Given the description of an element on the screen output the (x, y) to click on. 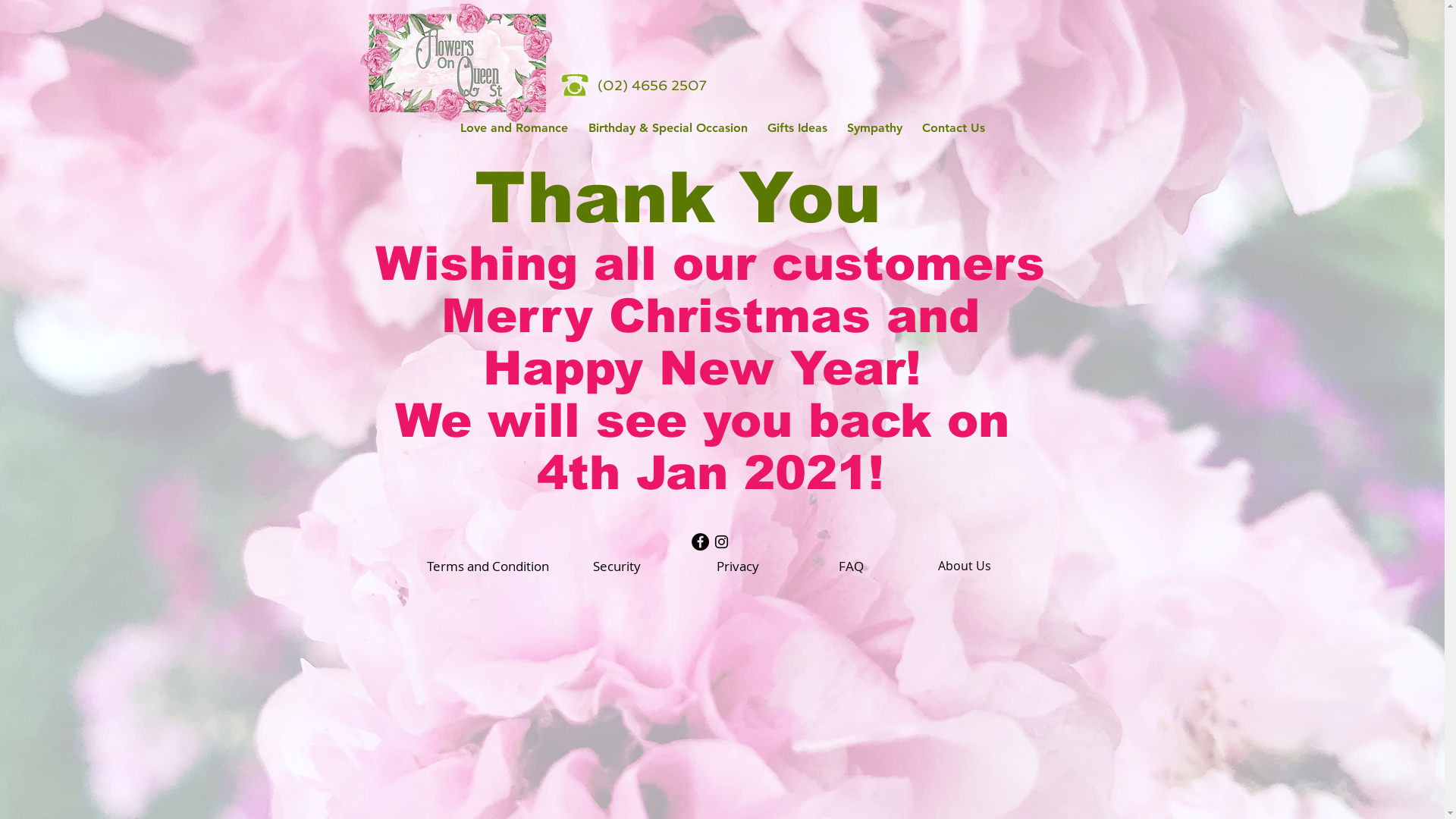
About Us Element type: text (963, 565)
Contact Us Element type: text (952, 127)
FAQ Element type: text (850, 565)
Online Store Element type: hover (1008, 40)
Privacy Element type: text (737, 565)
Terms and Condition Element type: text (486, 565)
Sympathy Element type: text (874, 127)
Birthday & Special Occasion Element type: text (666, 127)
FQST header logo.png Element type: hover (456, 62)
Gifts Ideas Element type: text (796, 127)
Security Element type: text (616, 565)
Love and Romance Element type: text (514, 127)
(02) 4656 2507 Element type: text (651, 85)
